Given the description of an element on the screen output the (x, y) to click on. 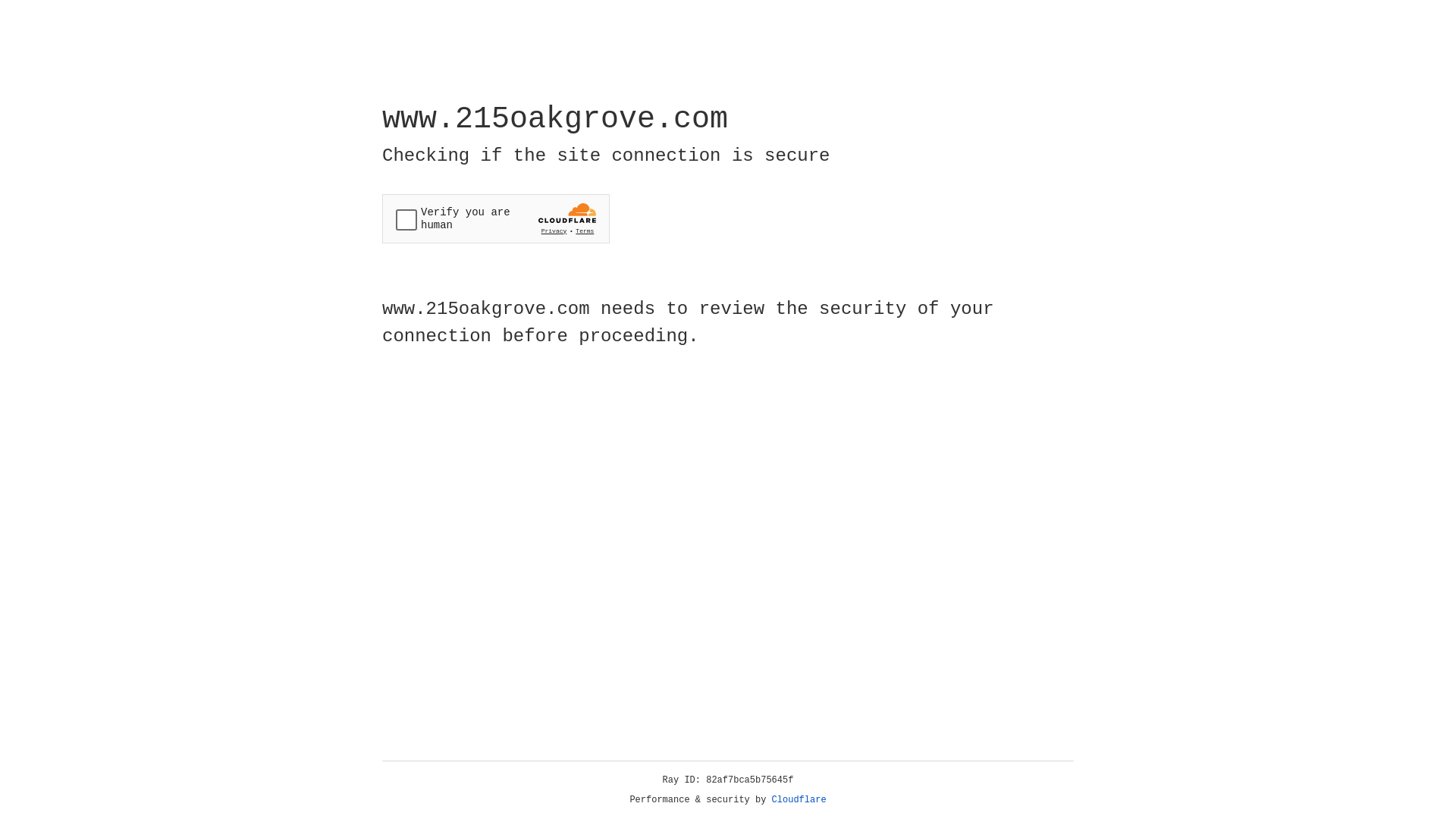
Widget containing a Cloudflare security challenge Element type: hover (495, 218)
Cloudflare Element type: text (798, 799)
